Given the description of an element on the screen output the (x, y) to click on. 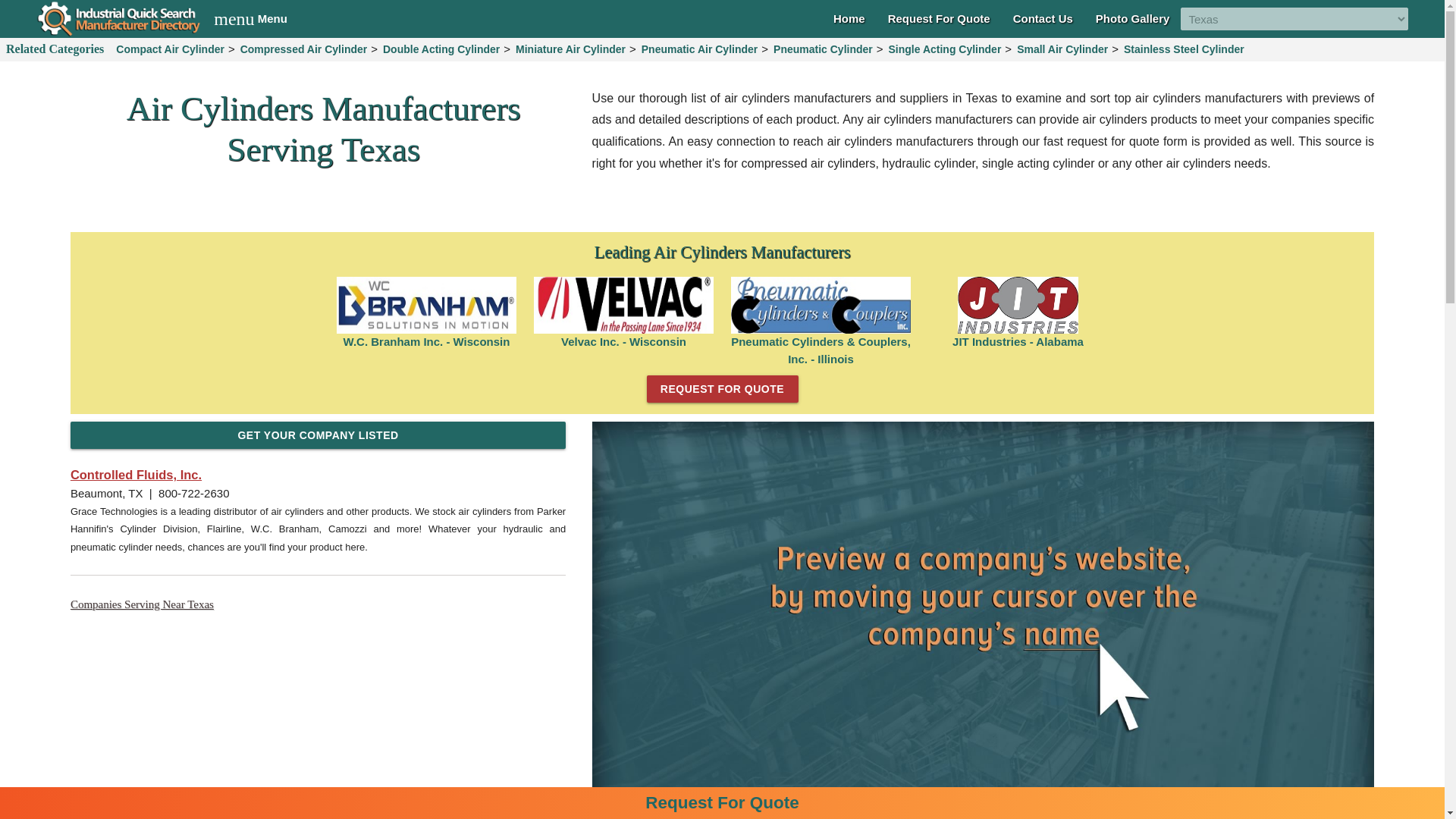
Double Acting Cylinder (440, 48)
Miniature Air Cylinder (570, 48)
JIT Industries Logo (1017, 304)
Pneumatic Air Cylinder (699, 48)
Photo Gallery (1132, 18)
Velvac Inc. Logo (624, 304)
Request For Quote (938, 18)
Compressed Air Cylinder (303, 48)
Small Air Cylinder (250, 18)
Stainless Steel Cylinder (1062, 48)
W.C. Branham Inc. Logo (1183, 48)
Contact Us (426, 304)
site preview (1042, 18)
